Given the description of an element on the screen output the (x, y) to click on. 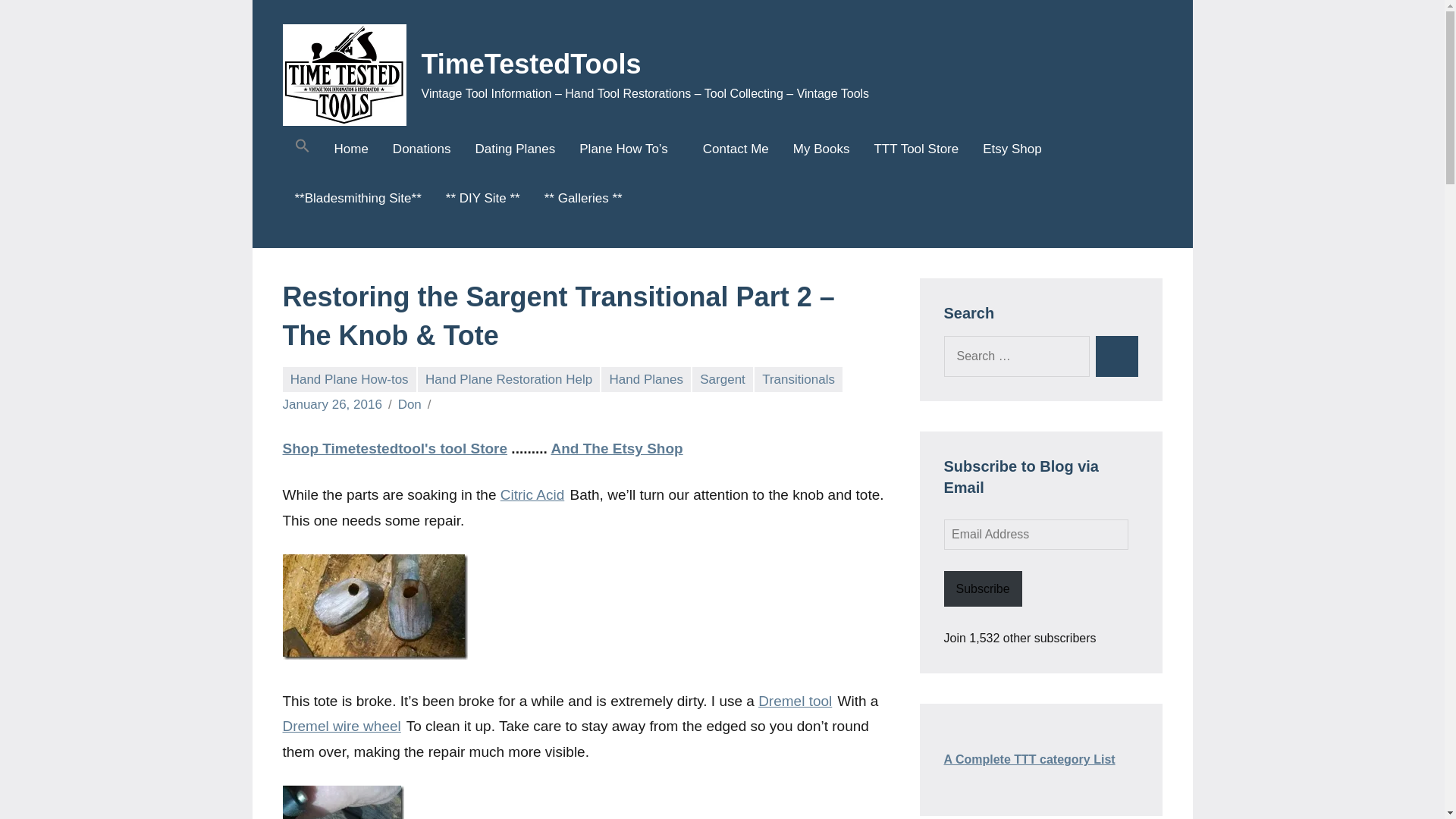
Don (409, 404)
Home (350, 150)
Dating Planes (514, 150)
Hand Plane How-tos (348, 379)
Hand Planes (645, 379)
January 26, 2016 (331, 404)
Shop Timetestedtool's tool Store (394, 448)
Donations (422, 150)
Contact Me (735, 150)
Citric Acid (532, 494)
Hand Plane Restoration Help (508, 379)
TTT Tool Store (915, 150)
View all posts by Don (409, 404)
My Books (821, 150)
And The Etsy Shop (616, 448)
